Given the description of an element on the screen output the (x, y) to click on. 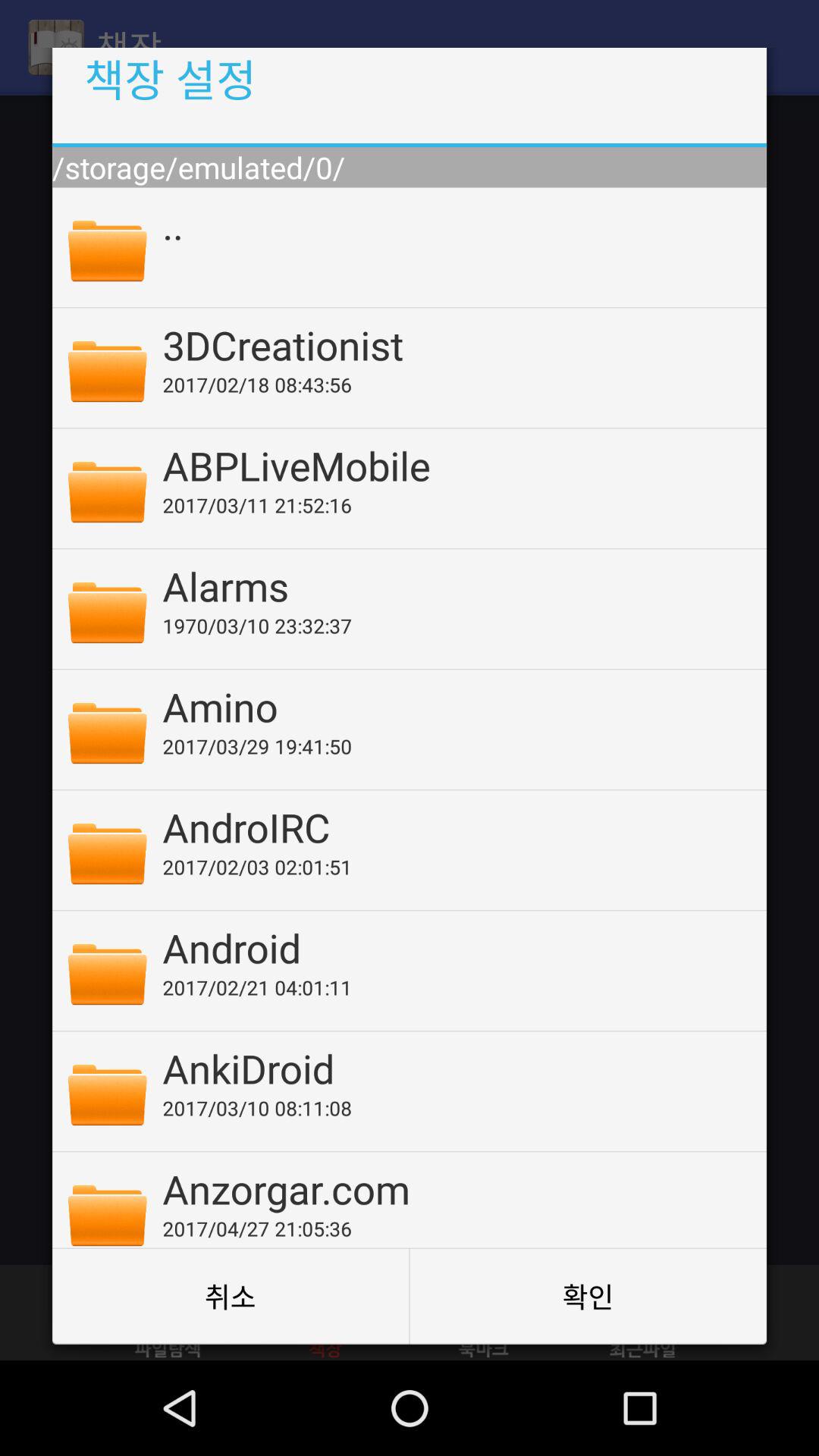
open the icon below 2017 02 03 icon (454, 947)
